Given the description of an element on the screen output the (x, y) to click on. 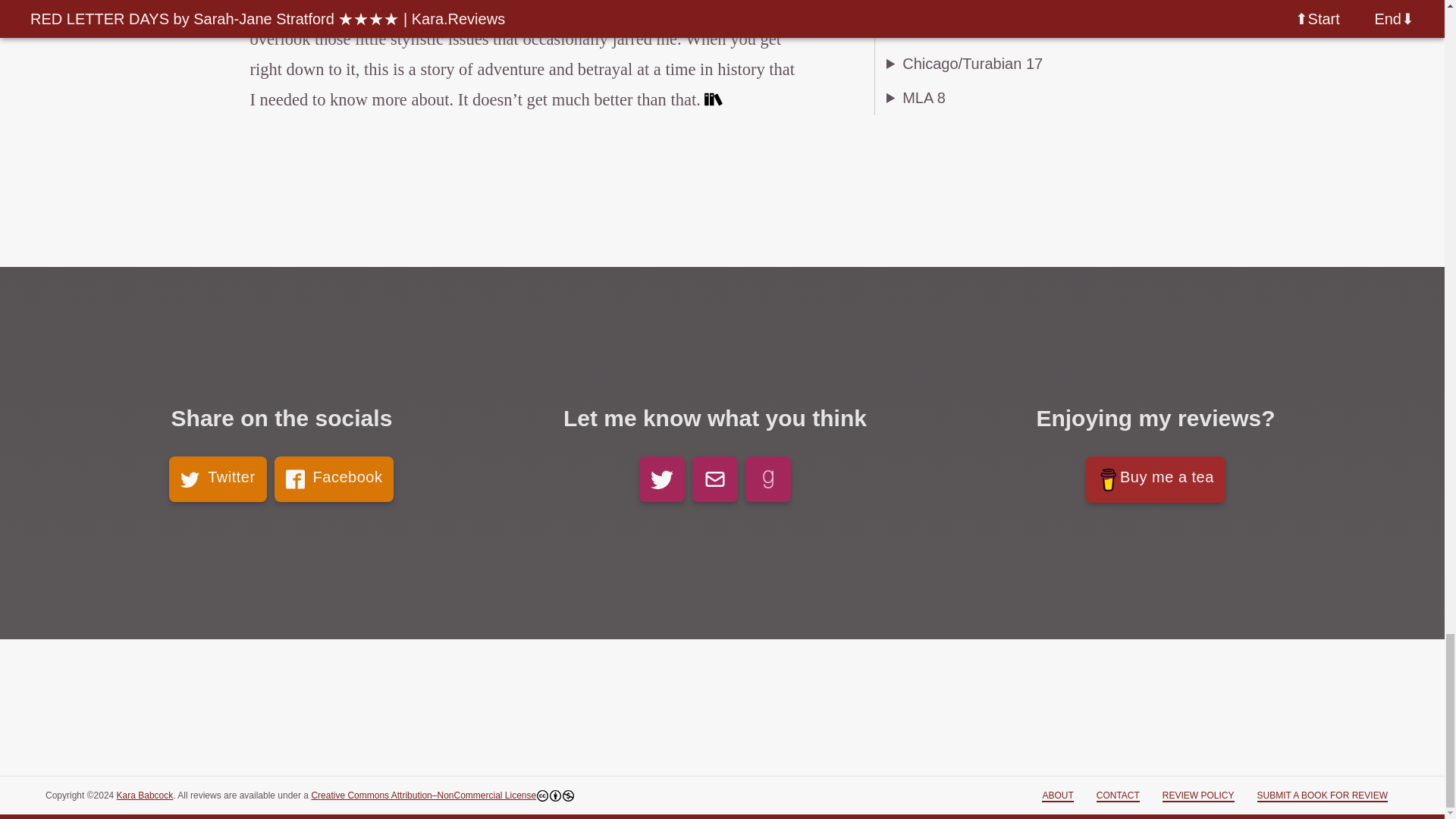
Email me (715, 479)
SUBMIT A BOOK FOR REVIEW (1322, 796)
Twitter (217, 479)
REVIEW POLICY (1197, 796)
Talk to me on Twitter (661, 479)
CONTACT (1118, 796)
Kara Babcock (144, 795)
Buy me a tea (1155, 479)
Facebook (334, 479)
ABOUT (1057, 796)
